Given the description of an element on the screen output the (x, y) to click on. 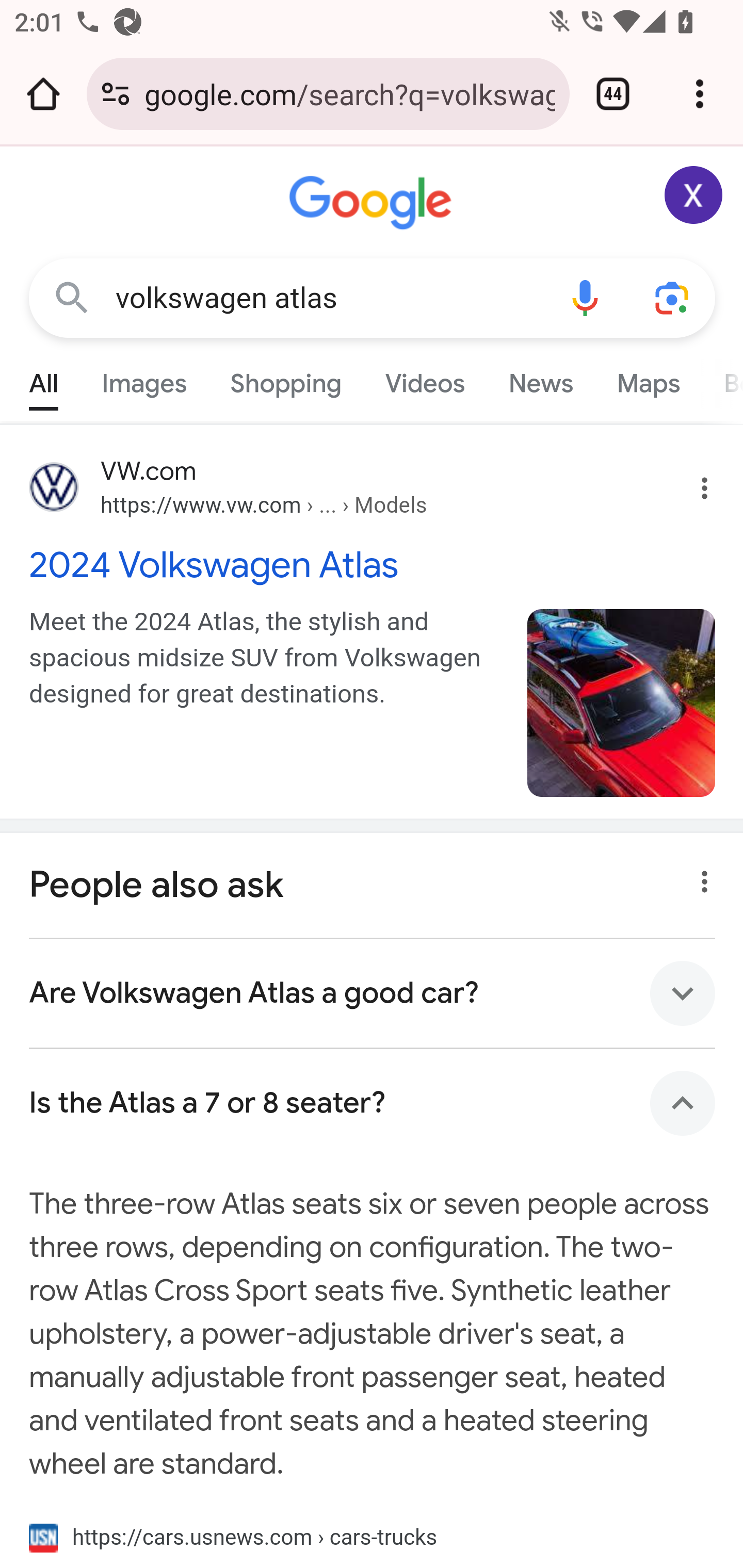
Open the home page (43, 93)
Connection is secure (115, 93)
Switch or close tabs (612, 93)
Customize and control Google Chrome (699, 93)
Google (372, 203)
Google Account: Xiaoran (zxrappiumtest@gmail.com) (694, 195)
Google Search (71, 296)
Search using your camera or photos (672, 296)
volkswagen atlas (328, 297)
Images (144, 378)
Shopping (285, 378)
Videos (424, 378)
News (540, 378)
Maps (647, 378)
2024 Volkswagen Atlas (372, 564)
atlas (621, 703)
About this result (698, 876)
Are Volkswagen Atlas a good car? (372, 993)
Is the Atlas a 7 or 8 seater? (372, 1102)
